Given the description of an element on the screen output the (x, y) to click on. 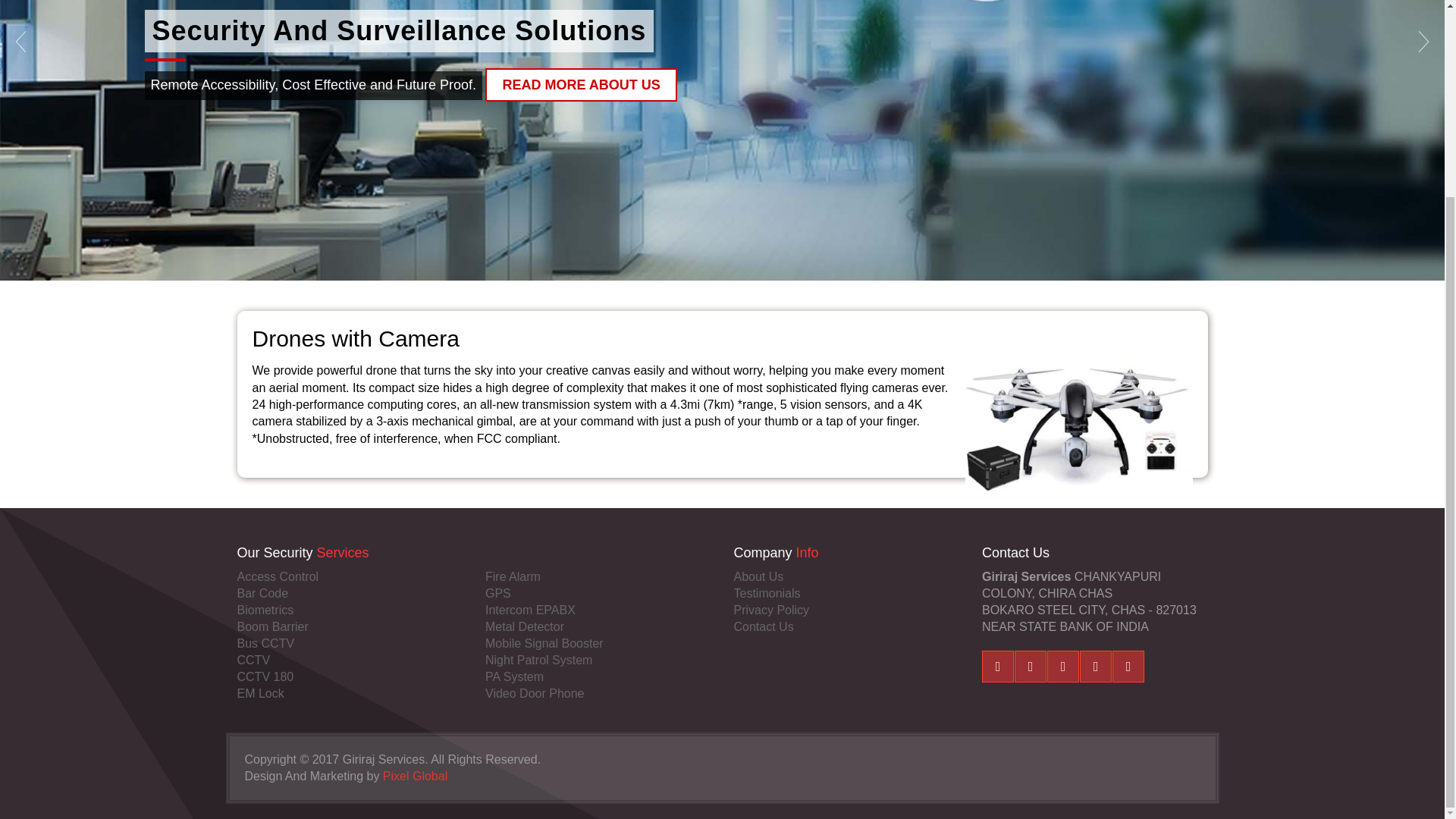
Boom Barrier (349, 627)
LinkedIn (1062, 666)
CCTV (349, 660)
CCTV 180 (349, 677)
youtube (1096, 666)
Instagram (1128, 666)
Facebook (997, 666)
Bar Code (349, 593)
Bus CCTV (349, 643)
Biometrics (349, 610)
